Given the description of an element on the screen output the (x, y) to click on. 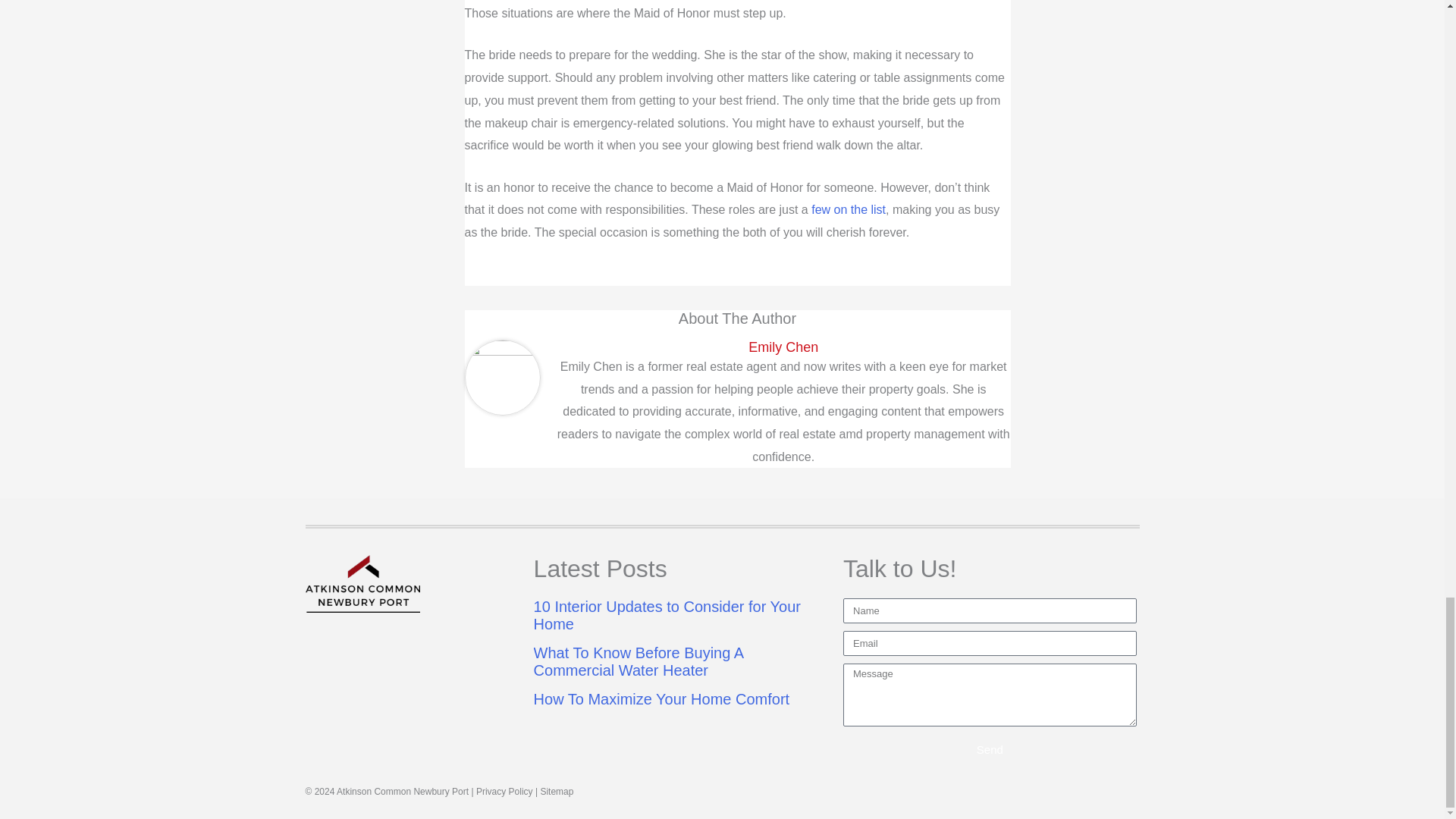
Privacy Policy (504, 791)
Emily Chen (783, 347)
10 Interior Updates to Consider for Your Home (667, 615)
Send (990, 748)
What To Know Before Buying A Commercial Water Heater (638, 661)
Sitemap (556, 791)
How To Maximize Your Home Comfort (662, 699)
few on the list (847, 209)
